Given the description of an element on the screen output the (x, y) to click on. 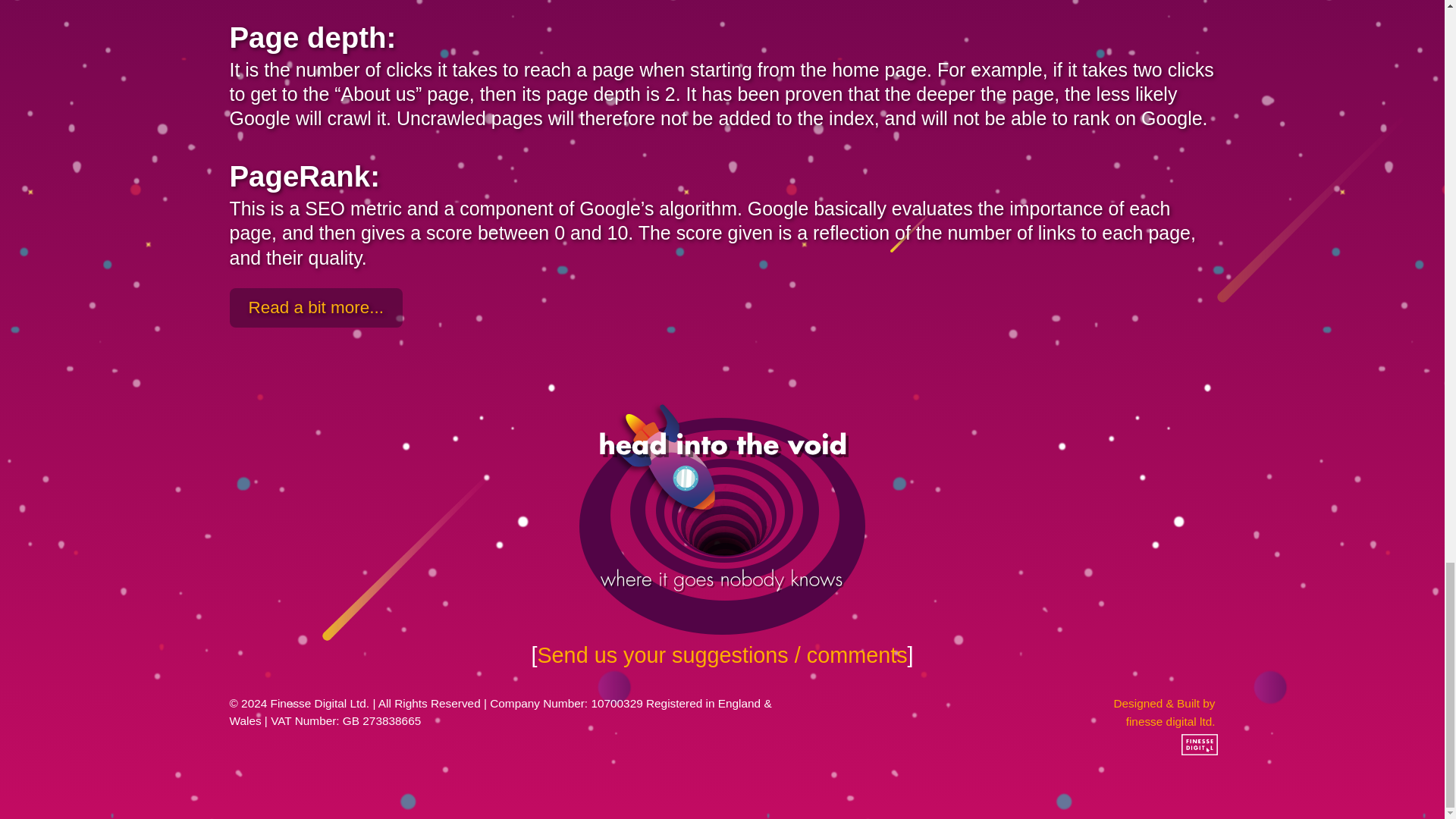
Read a bit more... (314, 307)
